Given the description of an element on the screen output the (x, y) to click on. 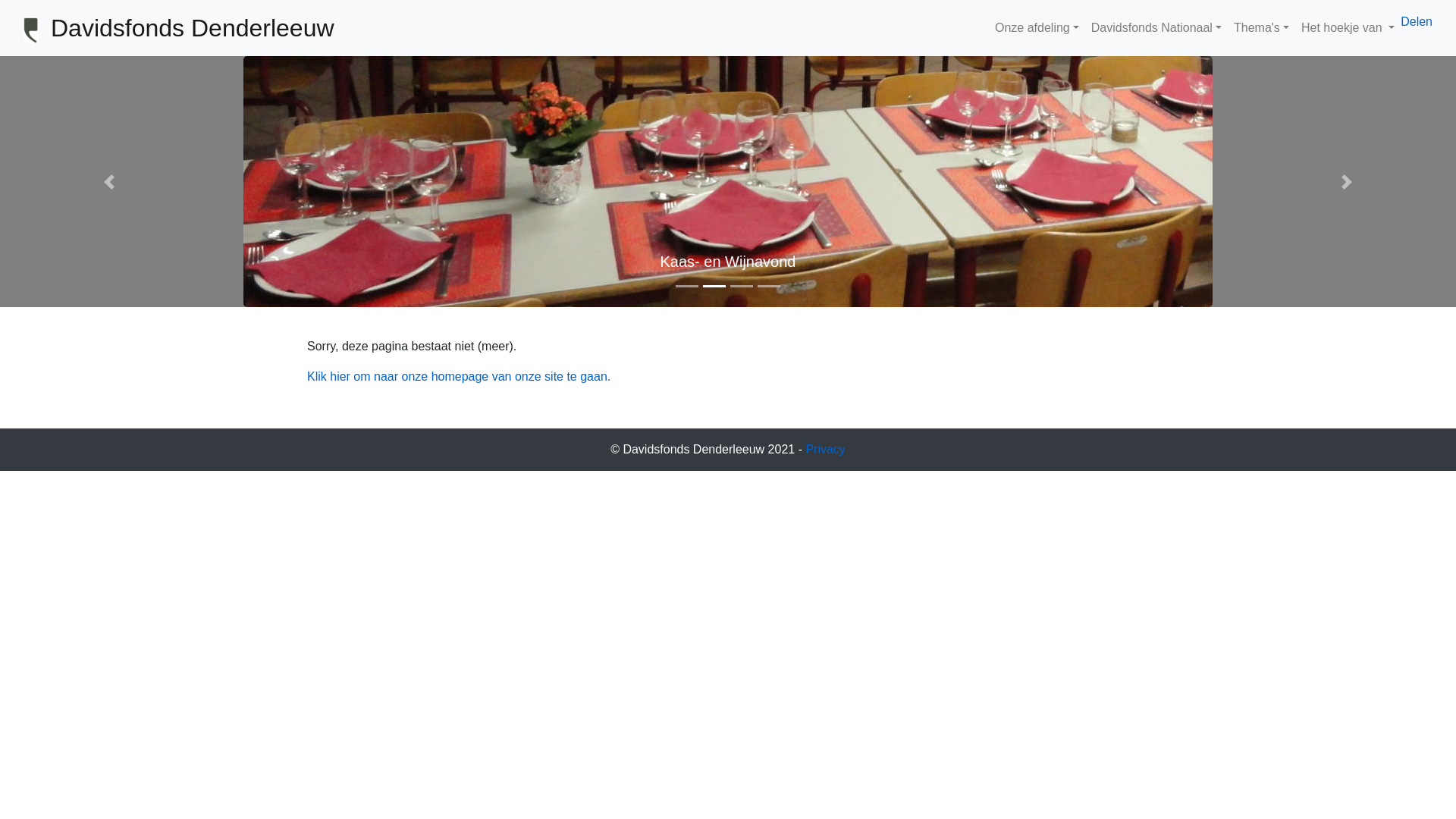
Delen Element type: text (1416, 21)
Previous Element type: text (109, 181)
Davidsfonds Nationaal Element type: text (1156, 27)
Onze afdeling Element type: text (1036, 27)
Thema's Element type: text (1261, 27)
Davidsfonds Denderleeuw Element type: text (192, 28)
Privacy Element type: text (824, 448)
Het hoekje van Element type: text (1347, 27)
Klik hier om naar onze homepage van onze site te gaan. Element type: text (458, 376)
Ga naar de homepage van Davidsfonds Denderleeuw Element type: hover (30, 29)
